Given the description of an element on the screen output the (x, y) to click on. 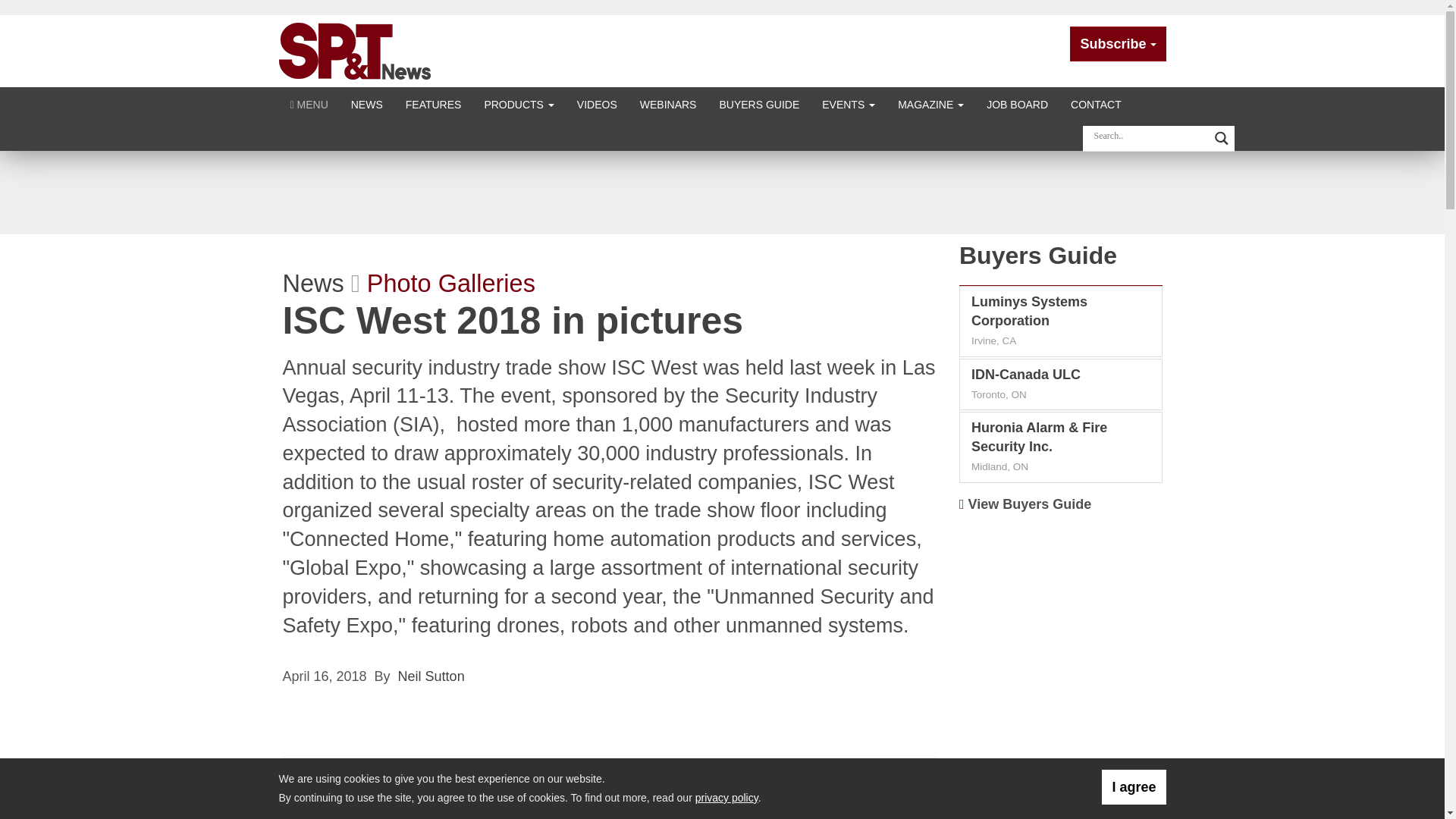
JOB BOARD (1017, 103)
PRODUCTS (517, 103)
3rd party ad content (1060, 771)
BUYERS GUIDE (758, 103)
3rd party ad content (1060, 620)
VIDEOS (597, 103)
Subscribe (1118, 43)
EVENTS (848, 103)
Click to show site navigation (309, 103)
3rd party ad content (721, 192)
